Given the description of an element on the screen output the (x, y) to click on. 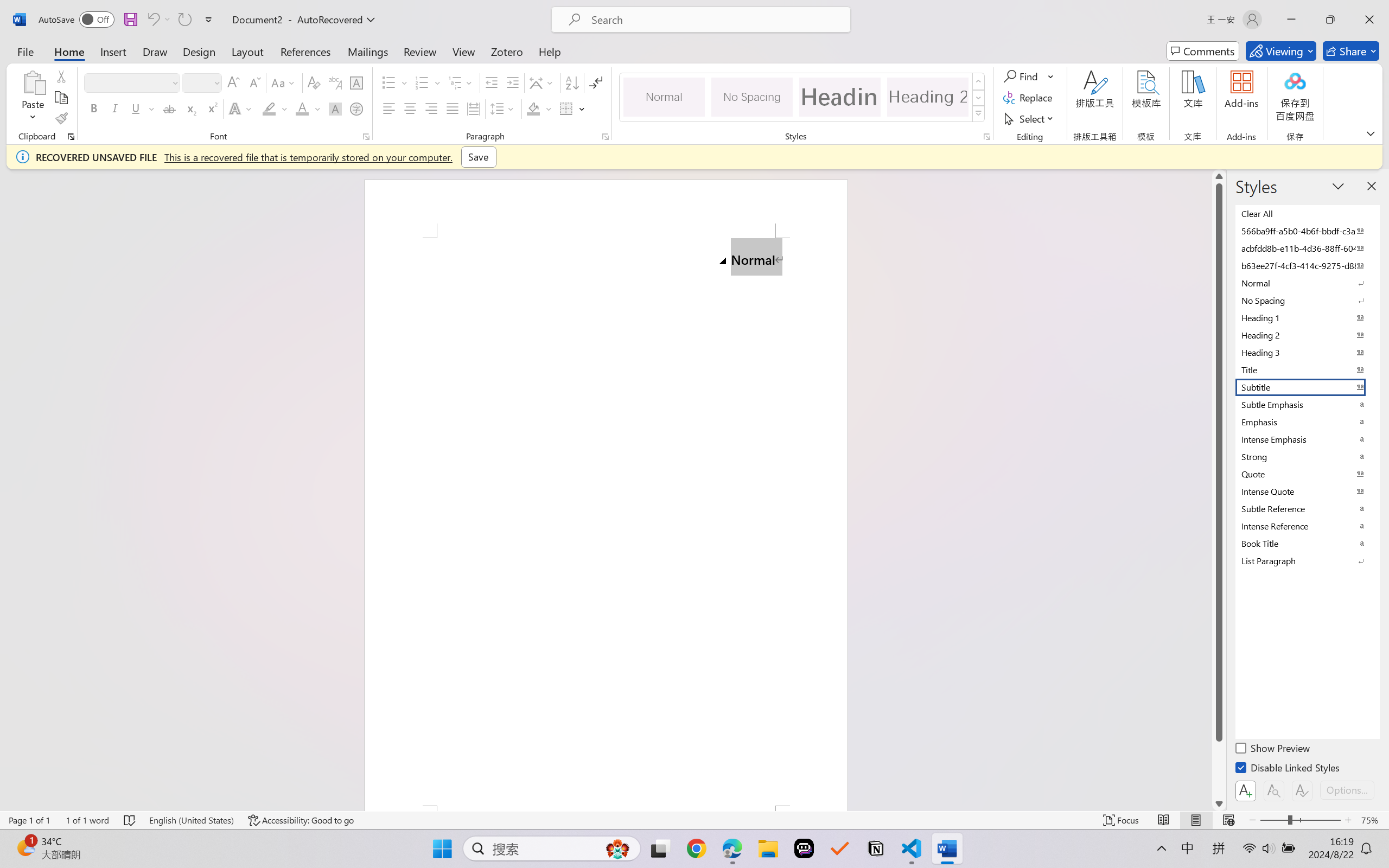
Styles... (986, 136)
Intense Reference (1306, 525)
Row up (978, 81)
